Given the description of an element on the screen output the (x, y) to click on. 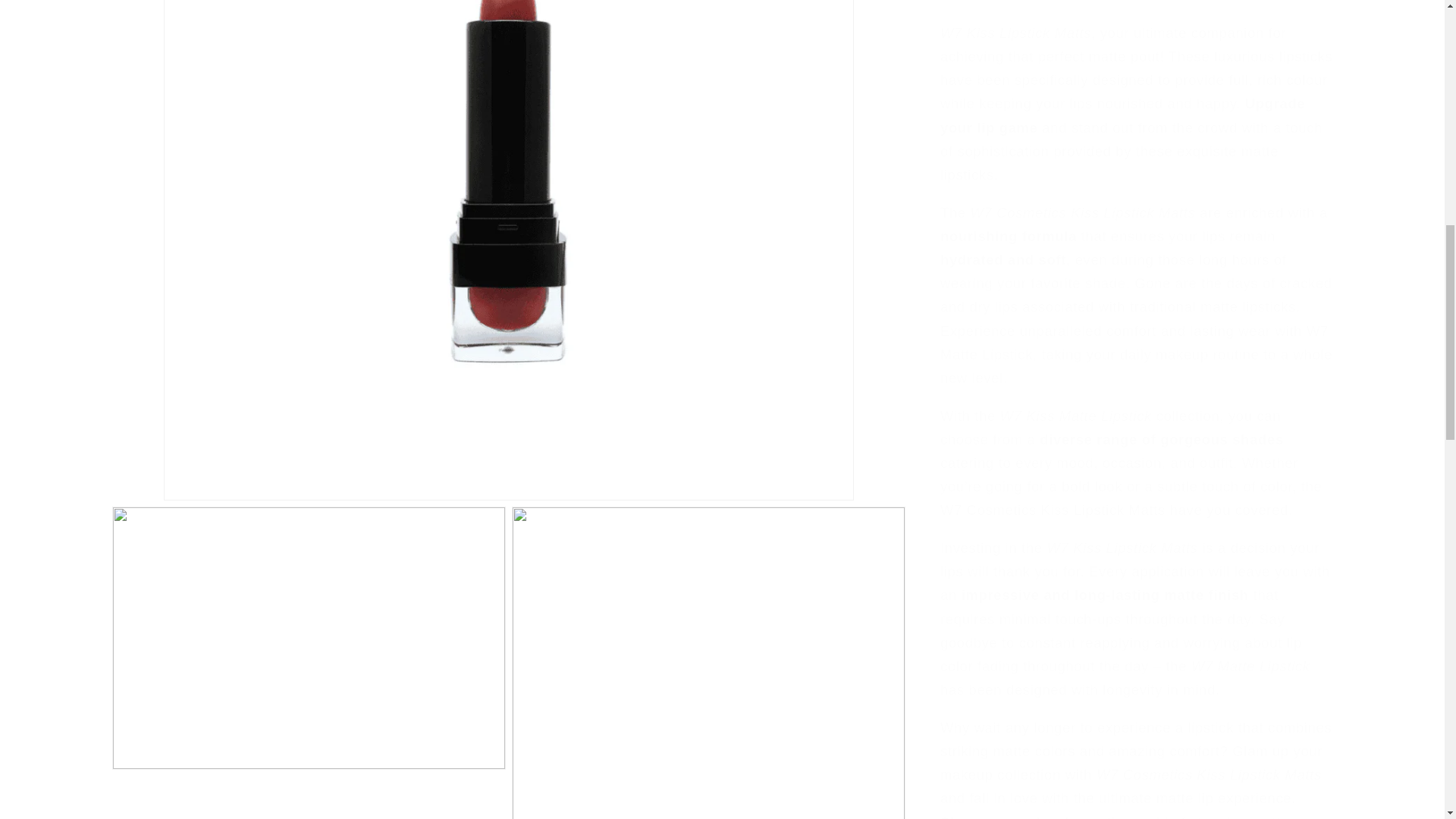
Open media 1 in modal (508, 58)
